Given the description of an element on the screen output the (x, y) to click on. 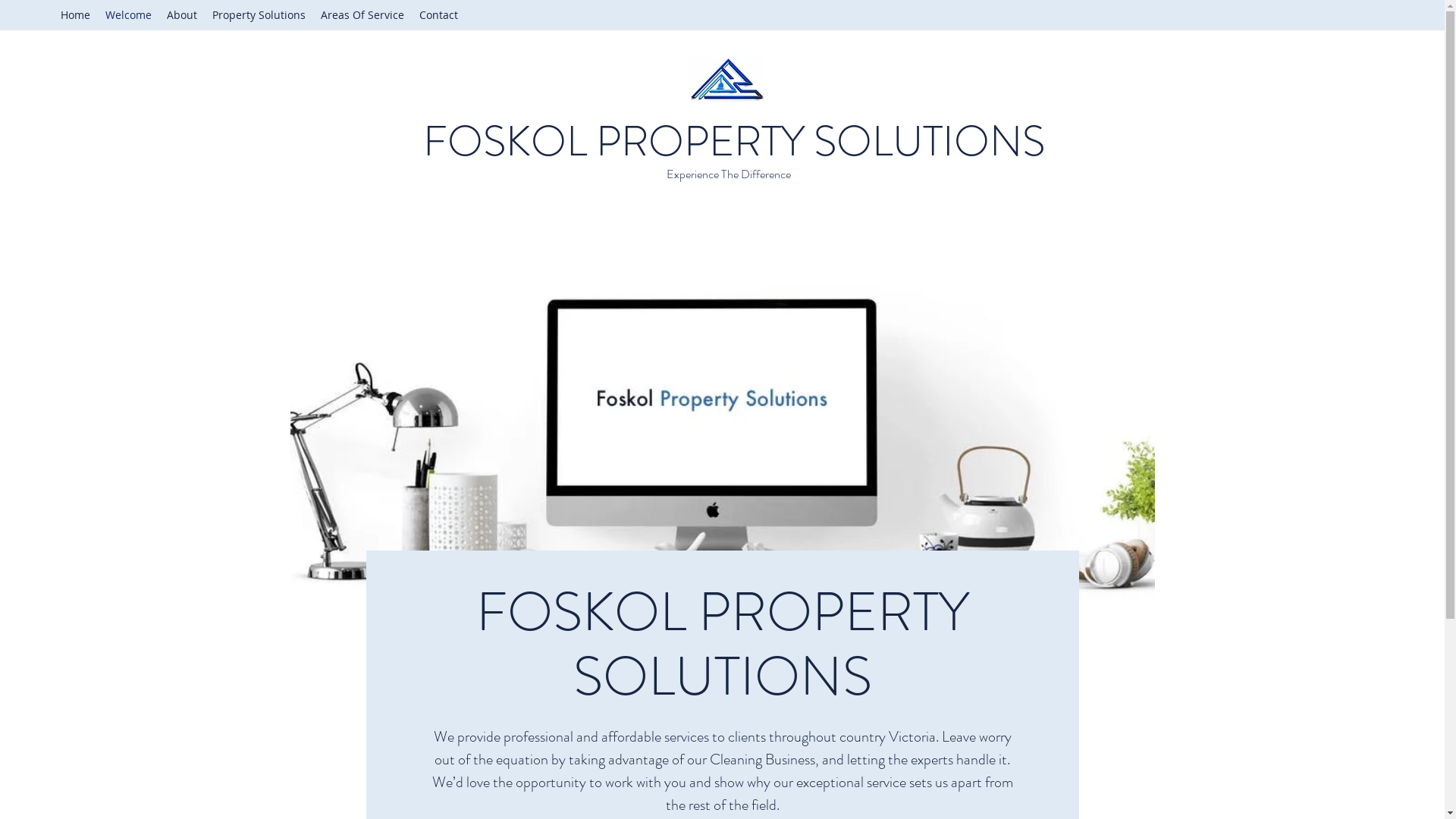
About Element type: text (181, 14)
Property Solutions Element type: text (258, 14)
Areas Of Service Element type: text (362, 14)
Welcome Element type: text (128, 14)
Home Element type: text (75, 14)
Contact Element type: text (438, 14)
